Given the description of an element on the screen output the (x, y) to click on. 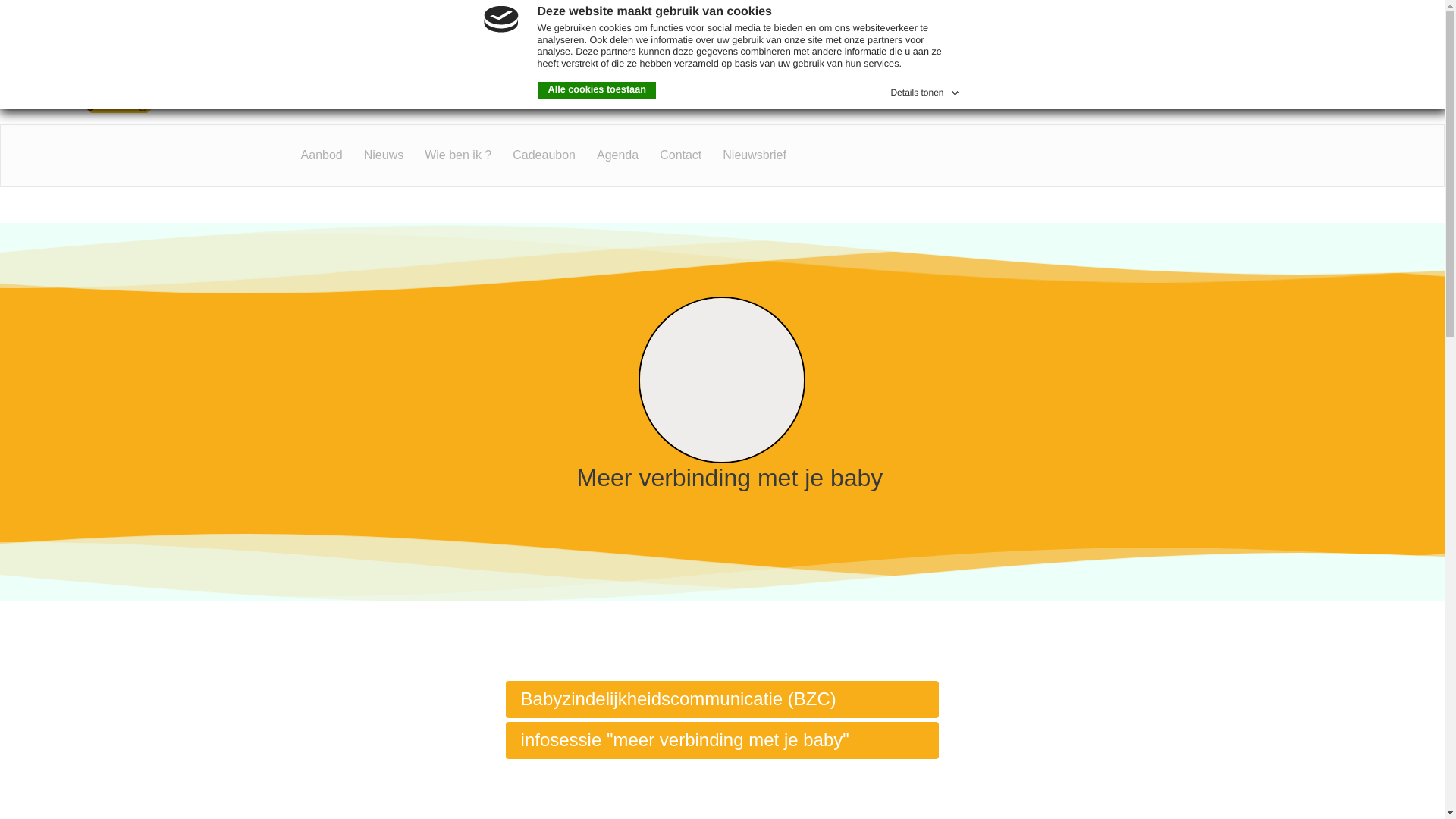
Contact Element type: text (680, 154)
Nieuws Element type: text (383, 154)
Babyzindelijkheidscommunicatie (BZC) Element type: text (722, 699)
Alle cookies toestaan Element type: text (596, 89)
Agenda Element type: text (617, 154)
Details tonen Element type: text (925, 89)
infosessie "meer verbinding met je baby" Element type: text (722, 740)
Cadeaubon Element type: text (543, 154)
Nieuwsbrief Element type: text (754, 154)
Aanbod Element type: text (321, 154)
Meer verbinding met je baby Element type: text (721, 397)
Wie ben ik ? Element type: text (457, 154)
